Given the description of an element on the screen output the (x, y) to click on. 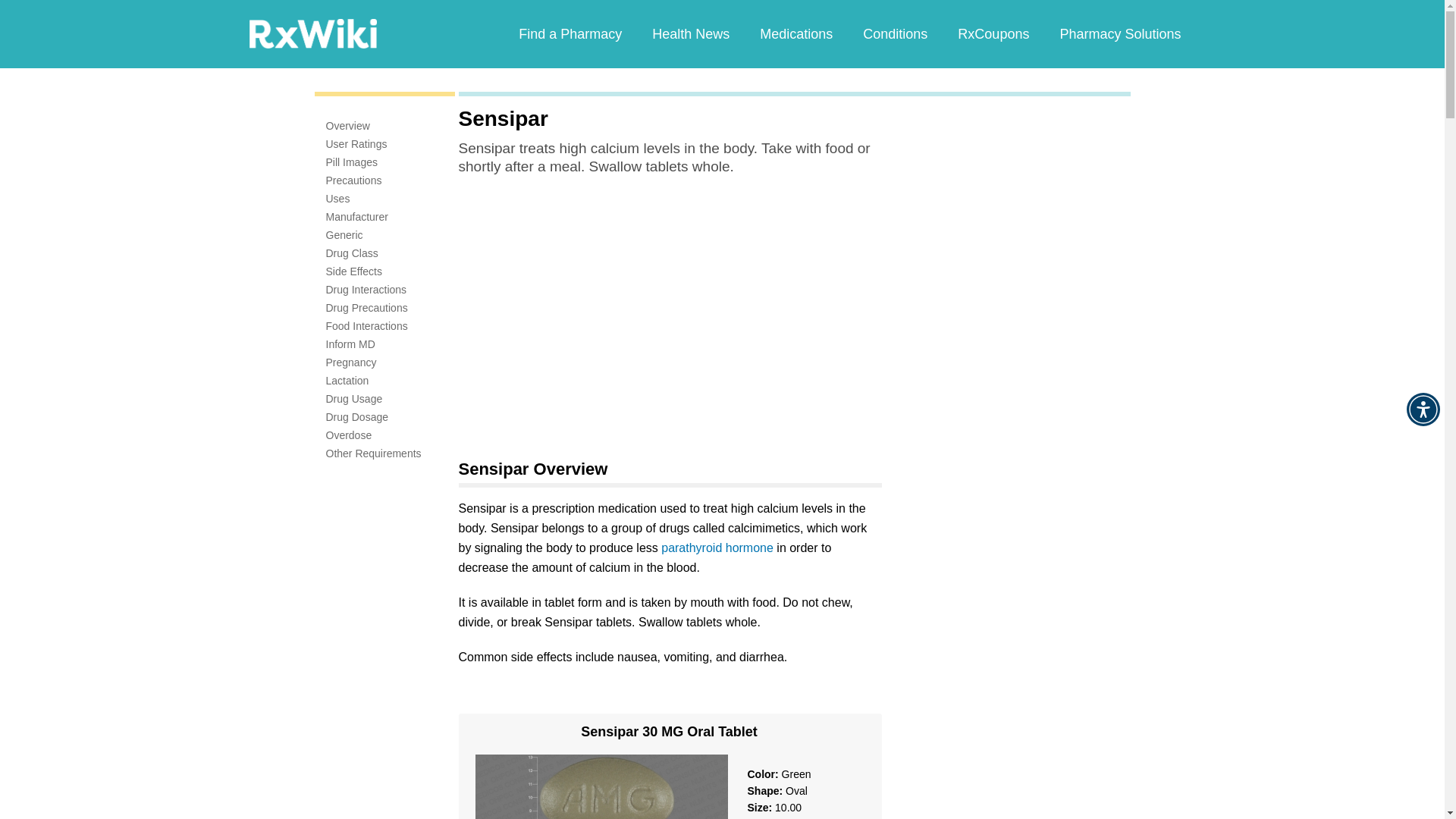
Pregnancy (351, 362)
Other Requirements (374, 453)
Pharmacy Solutions (1119, 33)
Overview (347, 125)
Drug Interactions (366, 289)
Uses (338, 198)
Accessibility Menu (1422, 409)
RxWiki (312, 32)
Drug Class (352, 253)
User Ratings (356, 143)
Drug Usage (354, 398)
RxCoupons (992, 33)
Health News (690, 33)
Sensipar 30 MG Oral Tablet (668, 736)
Medications (795, 33)
